Given the description of an element on the screen output the (x, y) to click on. 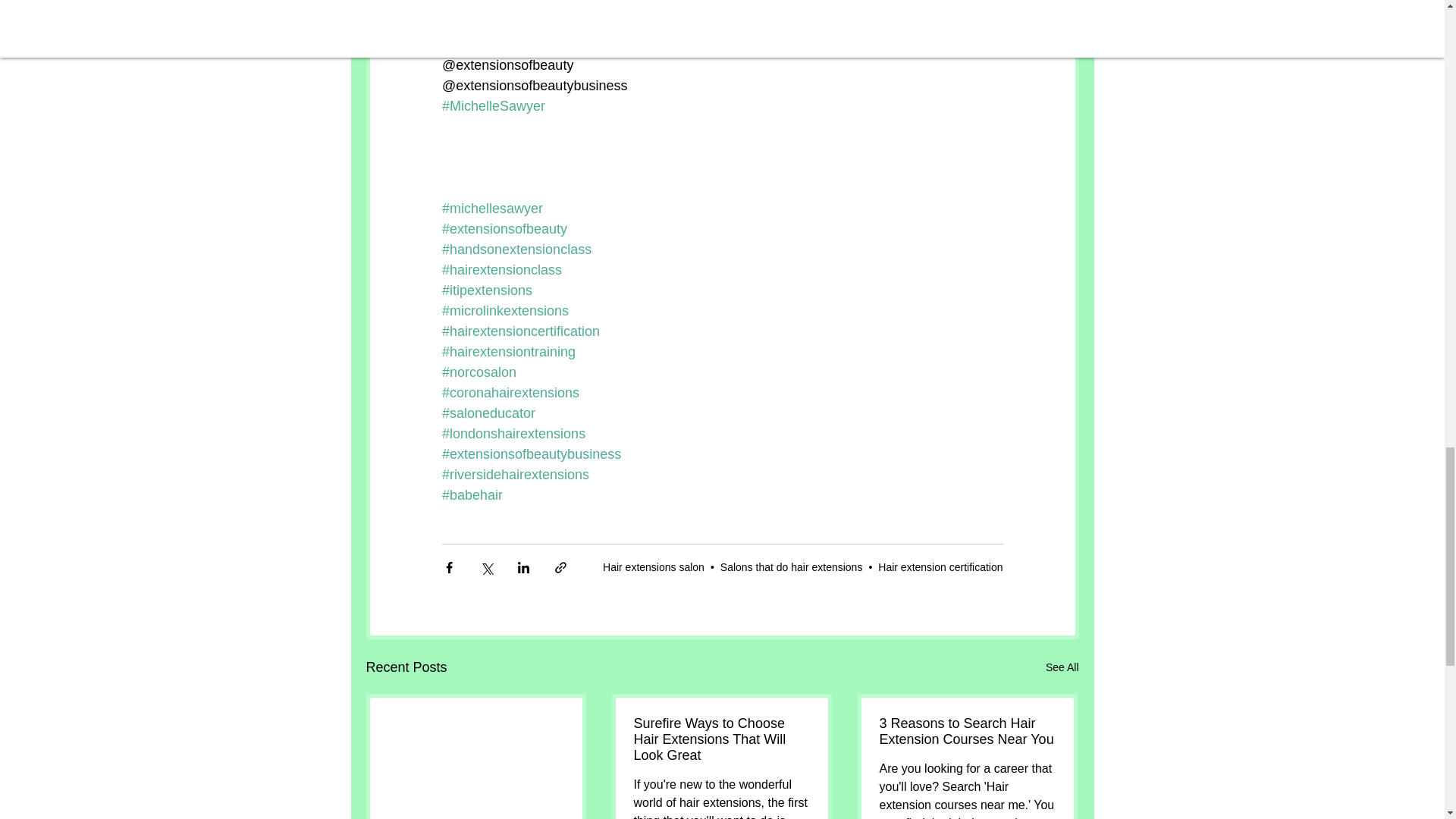
3 Reasons to Search Hair Extension Courses Near You (967, 731)
Hair extensions salon (653, 567)
Hair extension certification (940, 567)
Salons that do hair extensions (791, 567)
See All (1061, 667)
Surefire Ways to Choose Hair Extensions That Will Look Great (721, 739)
